Given the description of an element on the screen output the (x, y) to click on. 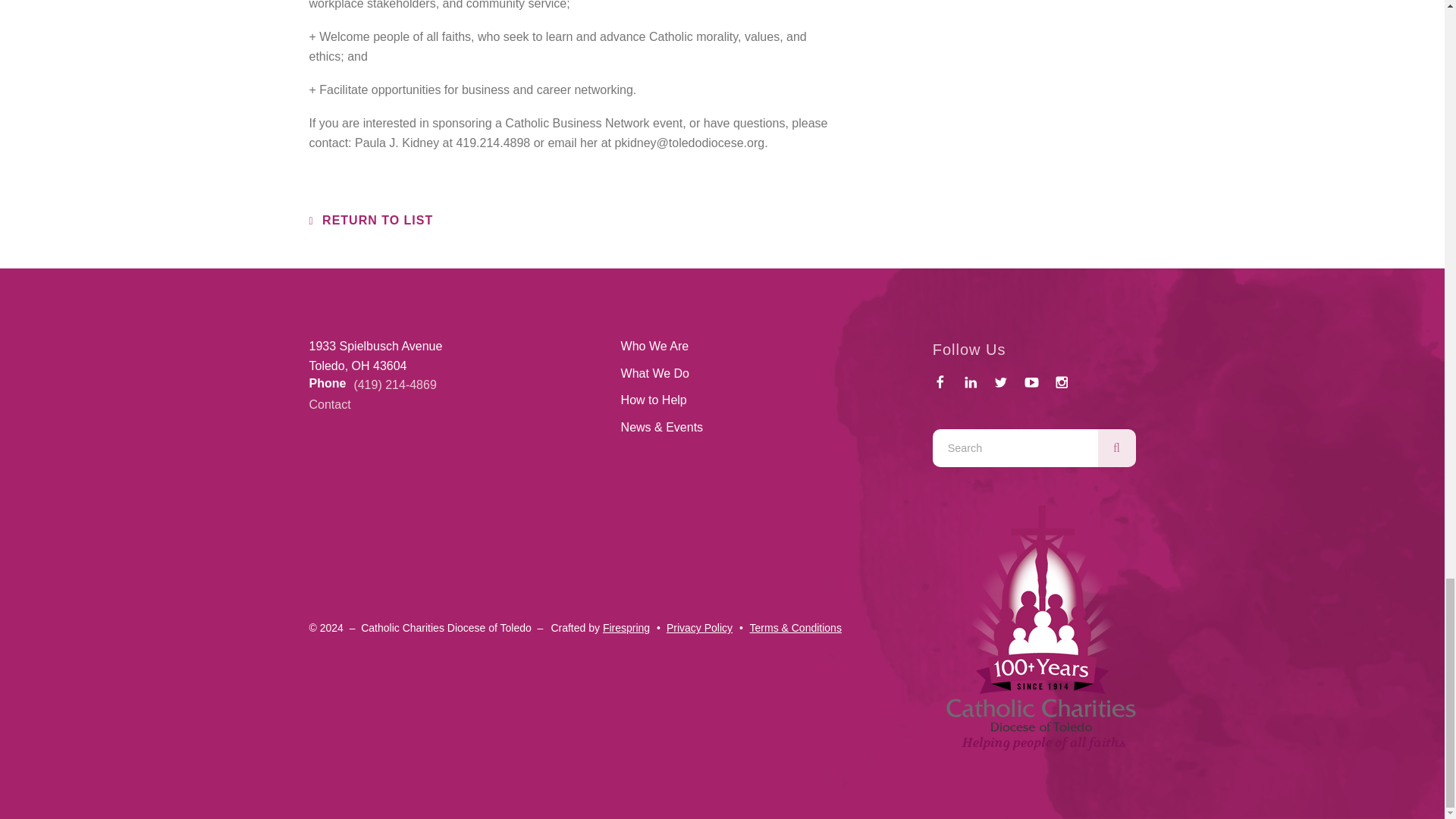
search (1116, 447)
